Given the description of an element on the screen output the (x, y) to click on. 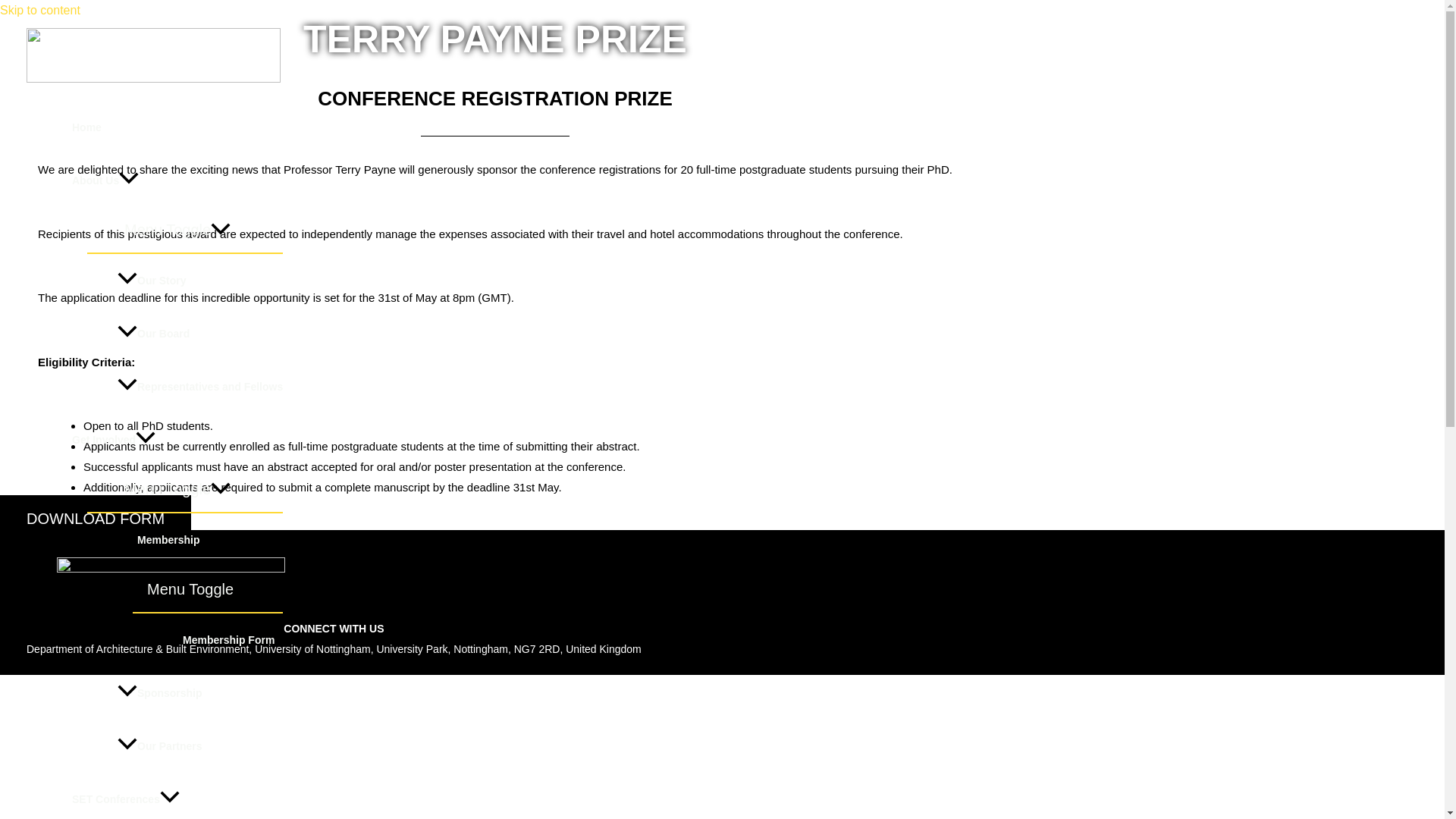
Representatives and Fellows (199, 386)
Menu Toggle (199, 588)
Menu Toggle (176, 229)
Get Involved (176, 439)
Skip to content (40, 10)
Membership (199, 539)
Membership Form (222, 639)
Menu Toggle (176, 488)
Our Story (199, 280)
Our Board (199, 333)
About Us (176, 180)
Skip to content (40, 10)
Home (176, 126)
